Given the description of an element on the screen output the (x, y) to click on. 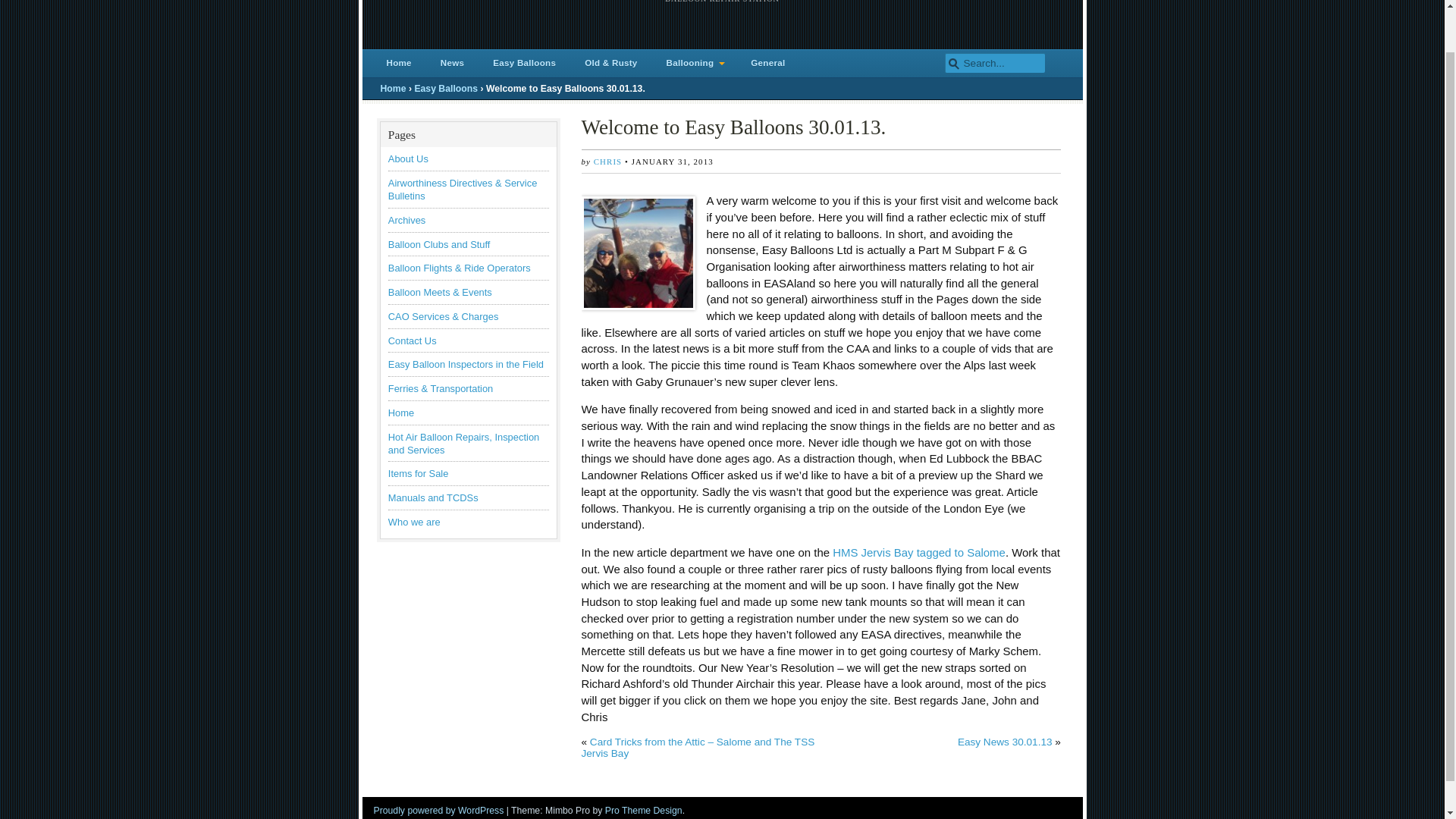
DCIM100GOPRO (637, 253)
Manuals and TCDSs (433, 497)
Easy Balloons (523, 63)
Ballooning (694, 63)
Easy News 30.01.13 (1005, 741)
Hot Air Balloon Repairs, Inspection and Services (463, 443)
About Us (408, 158)
A Semantic Personal Publishing Platform (437, 810)
Archives (407, 220)
HMS Jervis Bay tagged to Salome (919, 552)
